Given the description of an element on the screen output the (x, y) to click on. 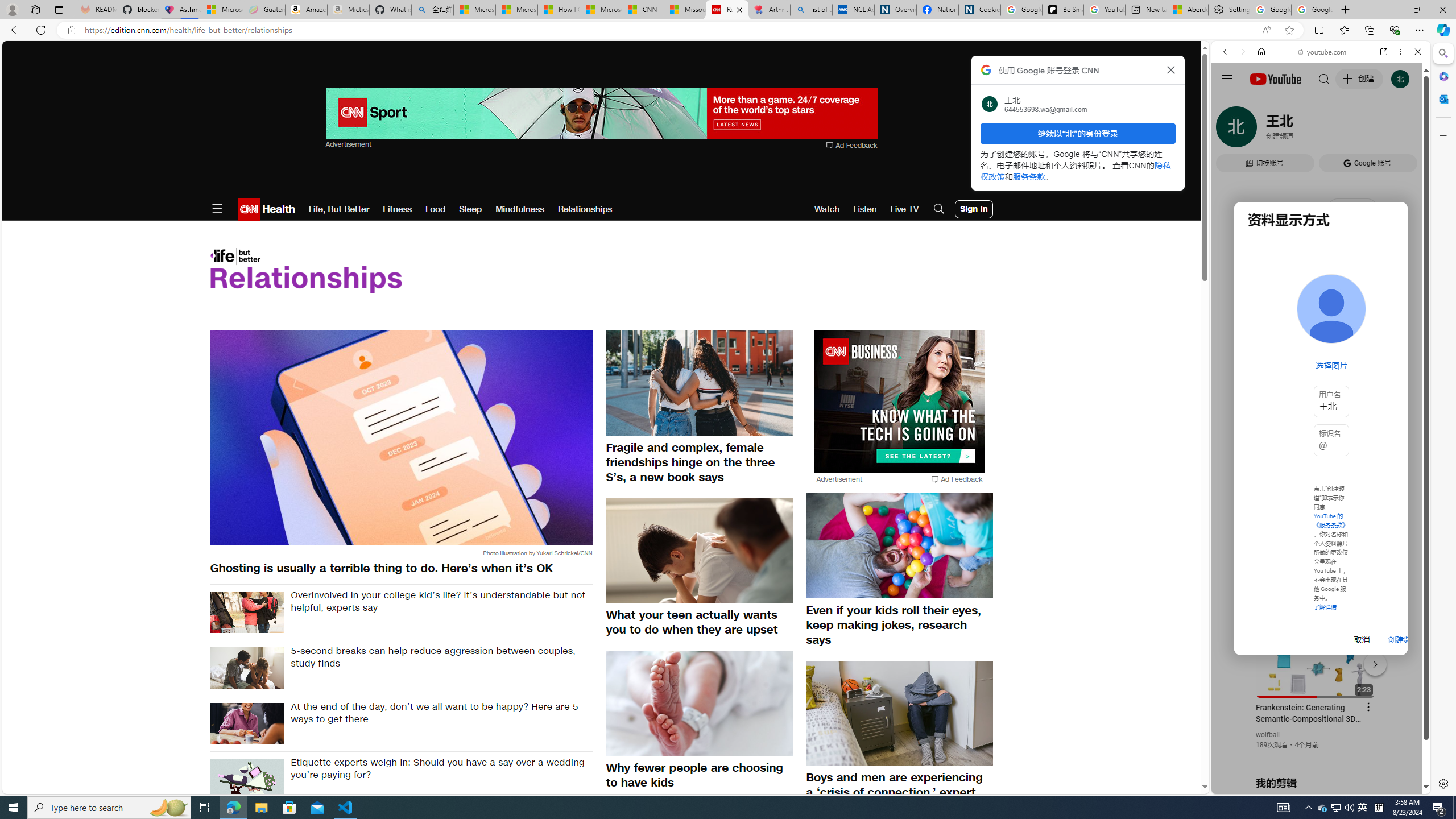
#you (1315, 659)
Arthritis: Ask Health Professionals (769, 9)
wolfball (1268, 734)
Search Filter, Search Tools (1350, 129)
